Given the description of an element on the screen output the (x, y) to click on. 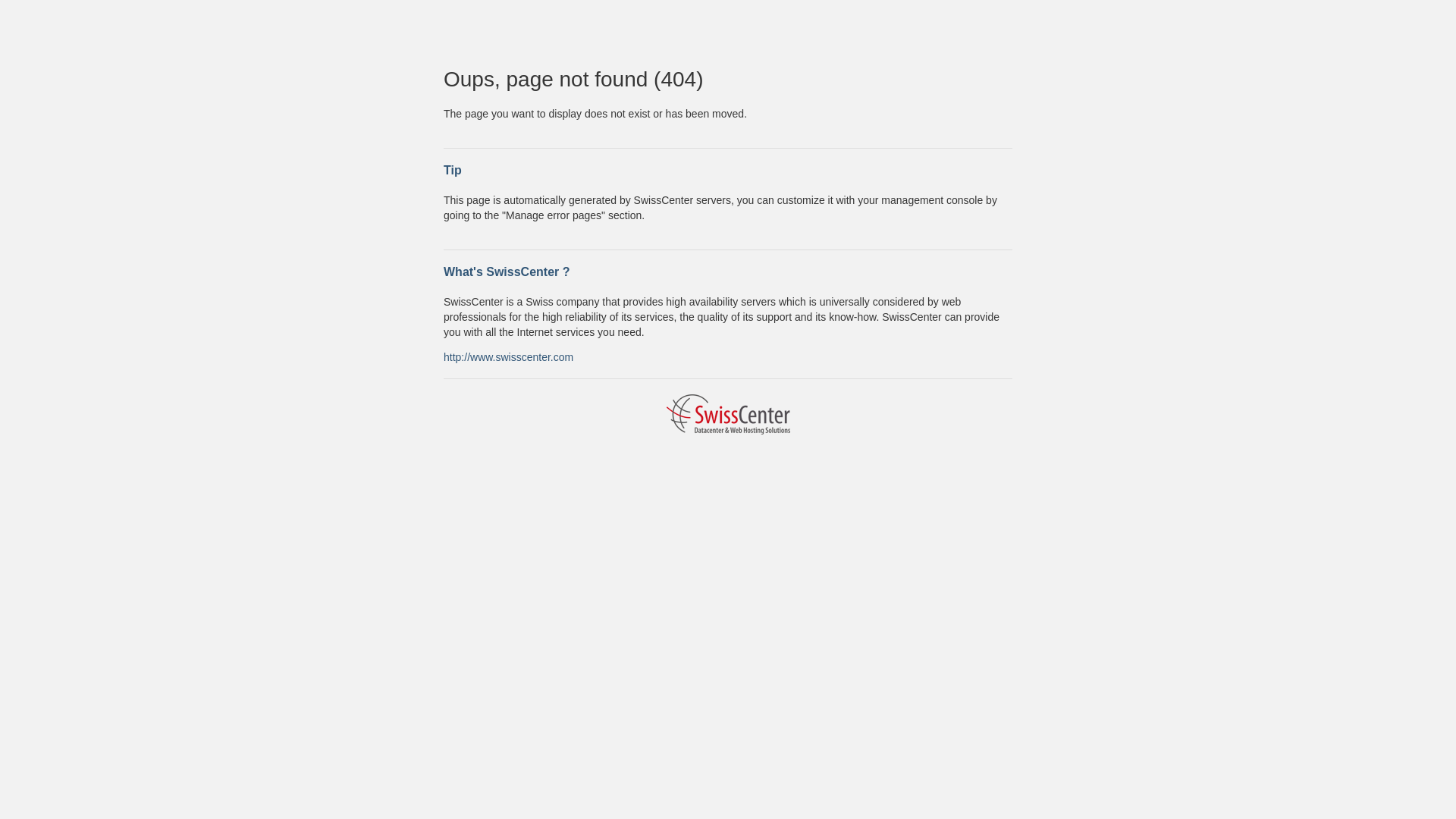
http://www.swisscenter.com Element type: text (508, 356)
